Given the description of an element on the screen output the (x, y) to click on. 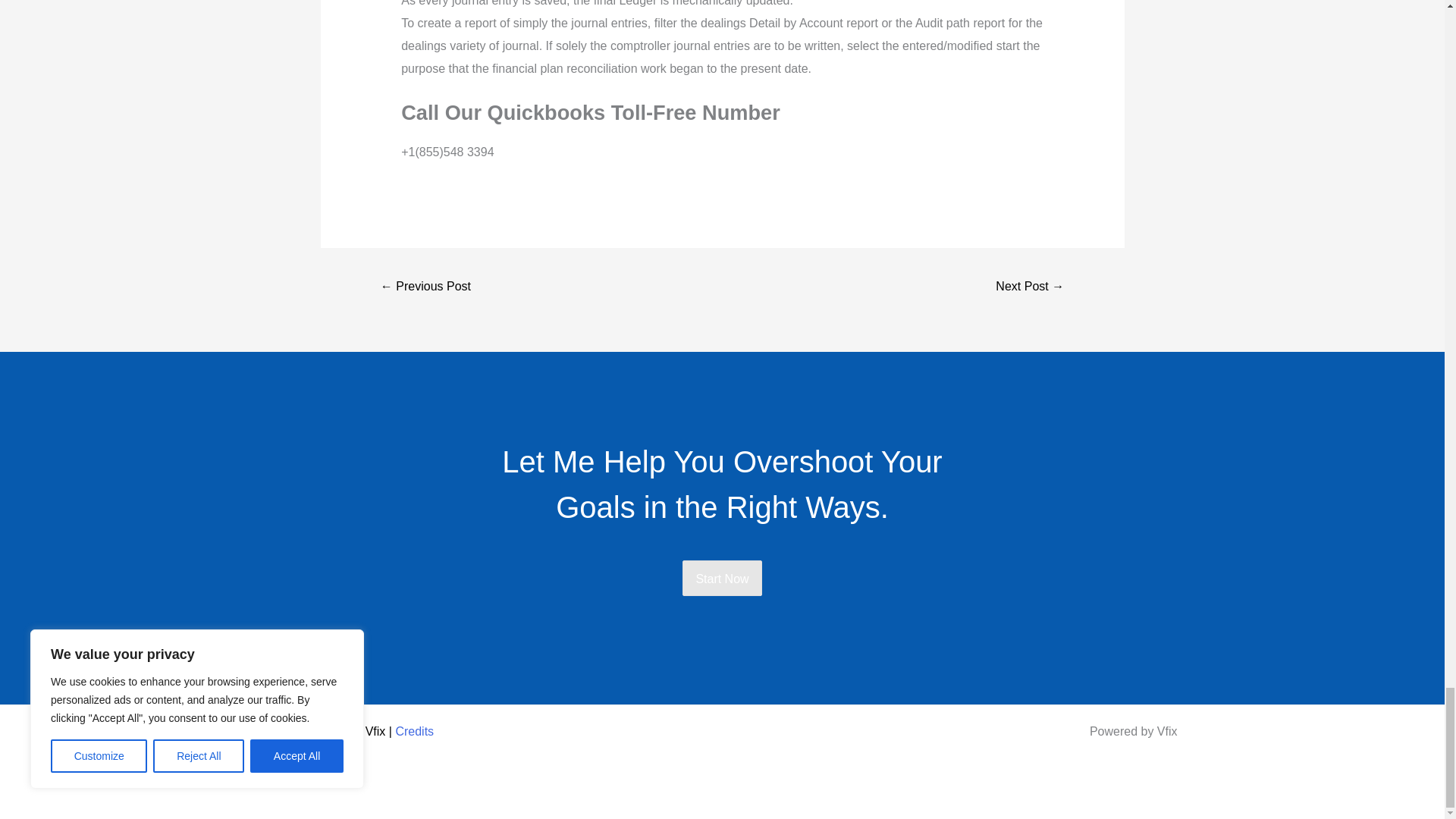
Call Our Quickbooks Toll-Free Number (425, 287)
Start Now (721, 578)
Start Now (721, 578)
Credits (413, 730)
